Given the description of an element on the screen output the (x, y) to click on. 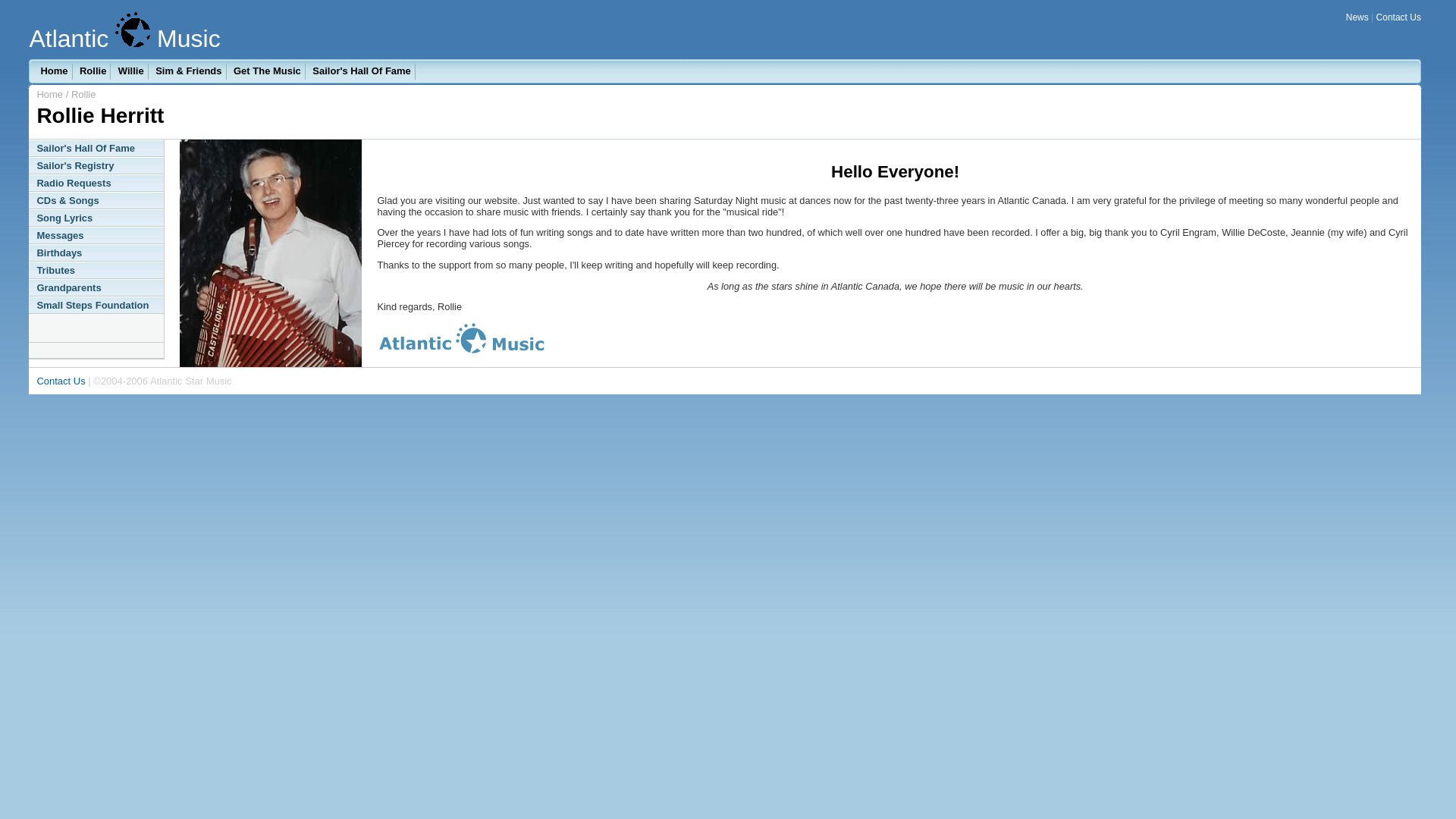
News Element type: text (1357, 17)
CDs & Songs Element type: text (95, 200)
Contact Us Element type: text (1398, 17)
Song Lyrics Element type: text (95, 217)
Sailor's Hall Of Fame Element type: text (361, 71)
Home Element type: text (54, 71)
Birthdays Element type: text (95, 252)
Grandparents Element type: text (95, 287)
Radio Requests Element type: text (95, 182)
Sailor's Hall Of Fame Element type: text (95, 147)
Messages Element type: text (95, 235)
Sailor's Registry Element type: text (95, 165)
Sim & Friends Element type: text (188, 71)
Tributes Element type: text (95, 270)
Small Steps Foundation Element type: text (95, 304)
Rollie Element type: text (83, 94)
Contact Us Element type: text (60, 380)
Home Element type: text (50, 94)
Get The Music Element type: text (267, 71)
Willie Element type: text (131, 71)
Rollie Element type: text (92, 71)
